Given the description of an element on the screen output the (x, y) to click on. 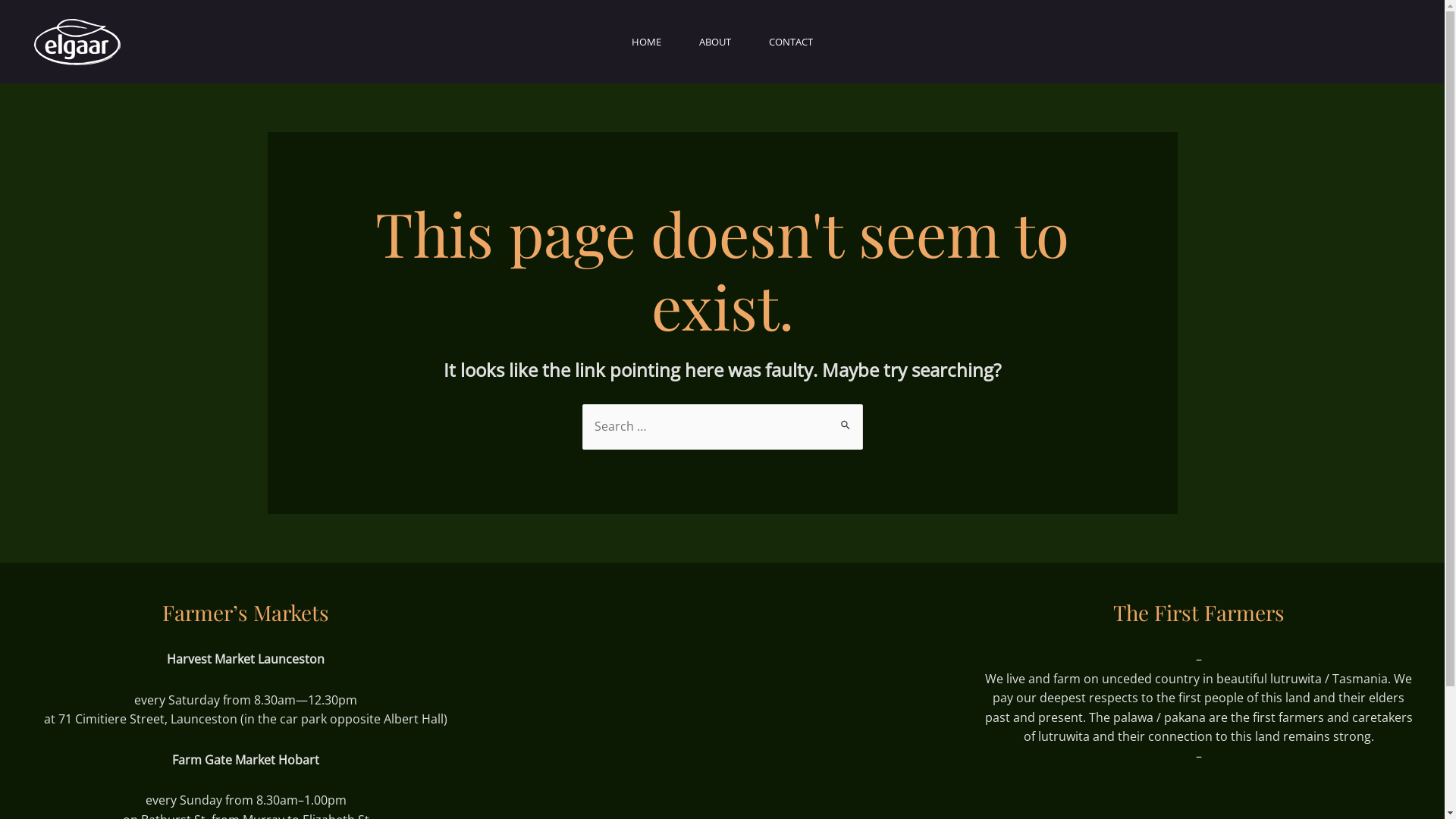
Search Element type: text (845, 421)
HOME Element type: text (646, 41)
CONTACT Element type: text (790, 41)
ABOUT Element type: text (714, 41)
